Given the description of an element on the screen output the (x, y) to click on. 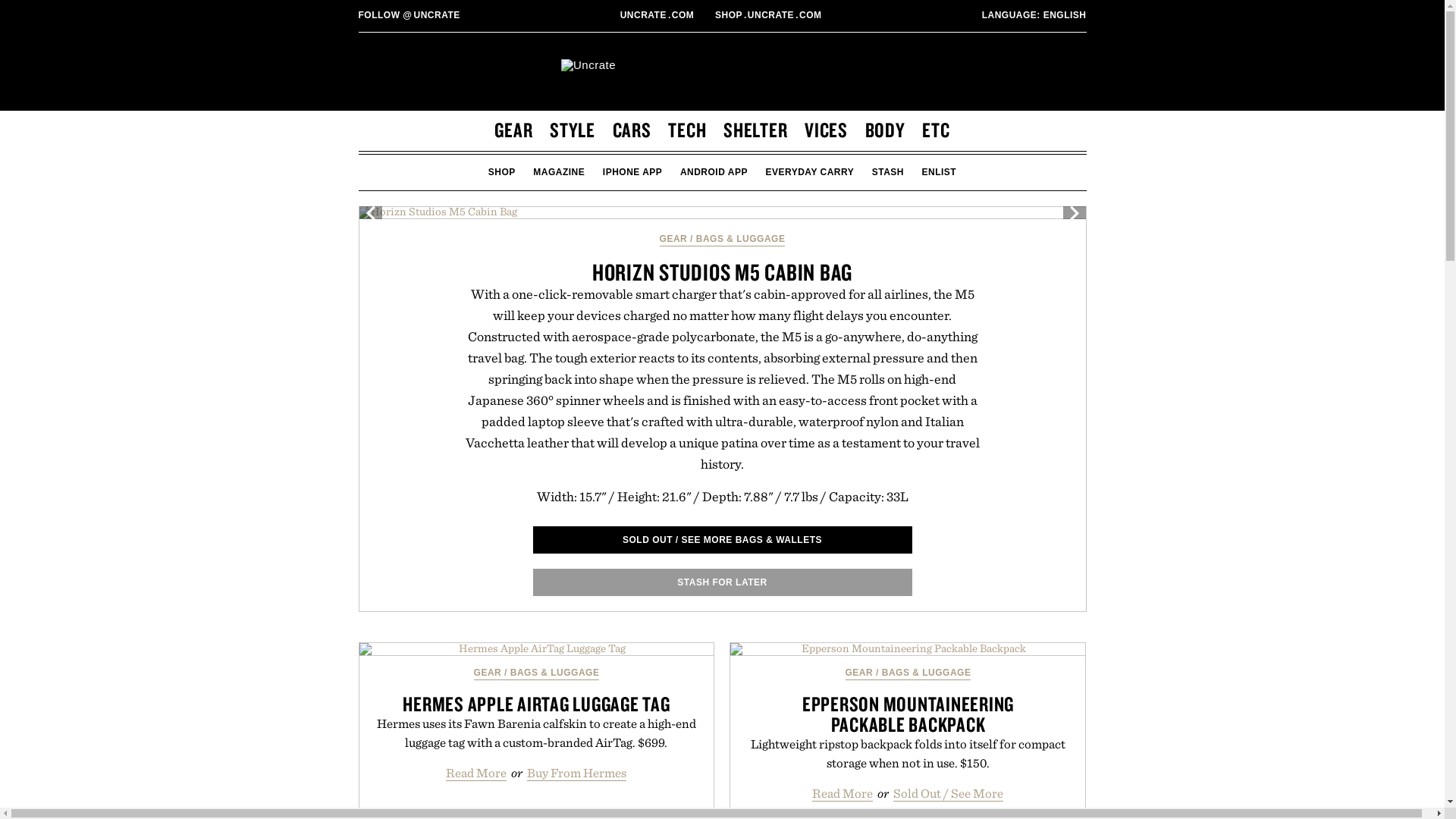
3rd party ad content (658, 14)
Horizn Studios M5 Cabin Bag (722, 212)
